Given the description of an element on the screen output the (x, y) to click on. 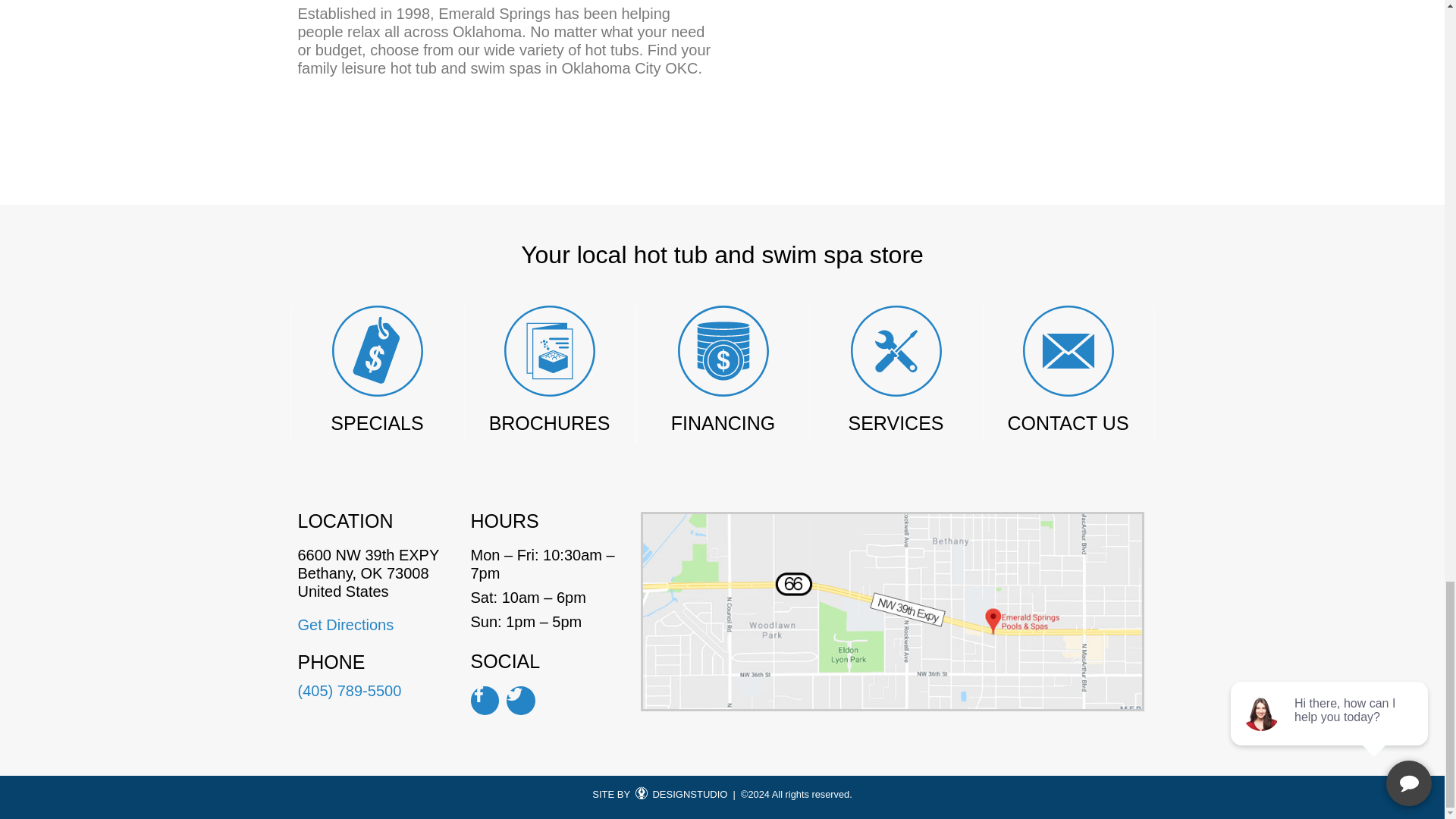
Emerald Springs Spas, 6600 NW 39th EXPY Bethany, OK 73008 (938, 90)
